Given the description of an element on the screen output the (x, y) to click on. 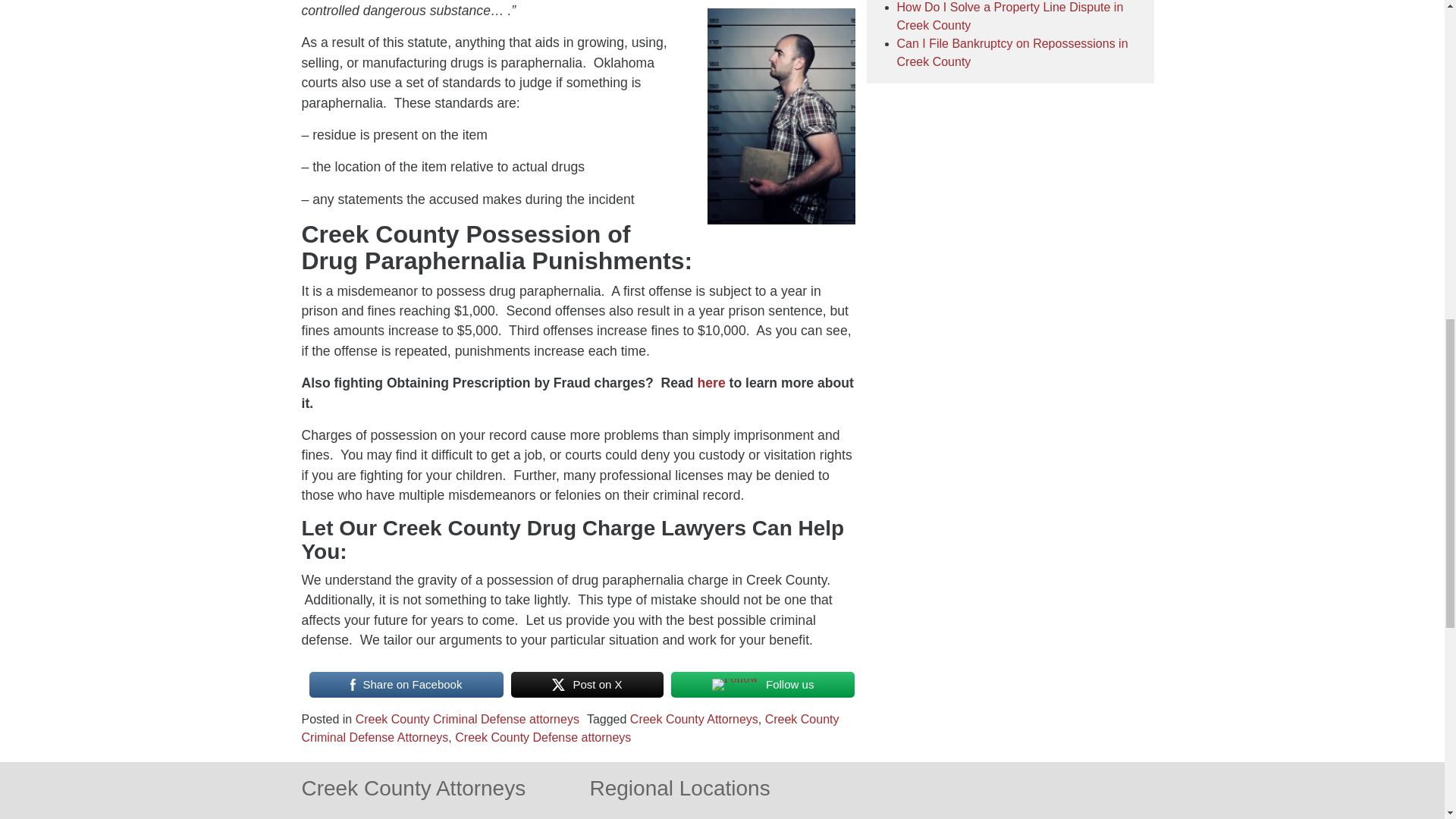
Follow us (763, 684)
Creek County Attorneys (694, 718)
Creek County Criminal Defense Attorneys (570, 727)
Creek County Defense attorneys (542, 737)
here (711, 382)
Share on Facebook (405, 684)
Creek County Criminal Defense attorneys (467, 718)
Post on X (587, 684)
